Given the description of an element on the screen output the (x, y) to click on. 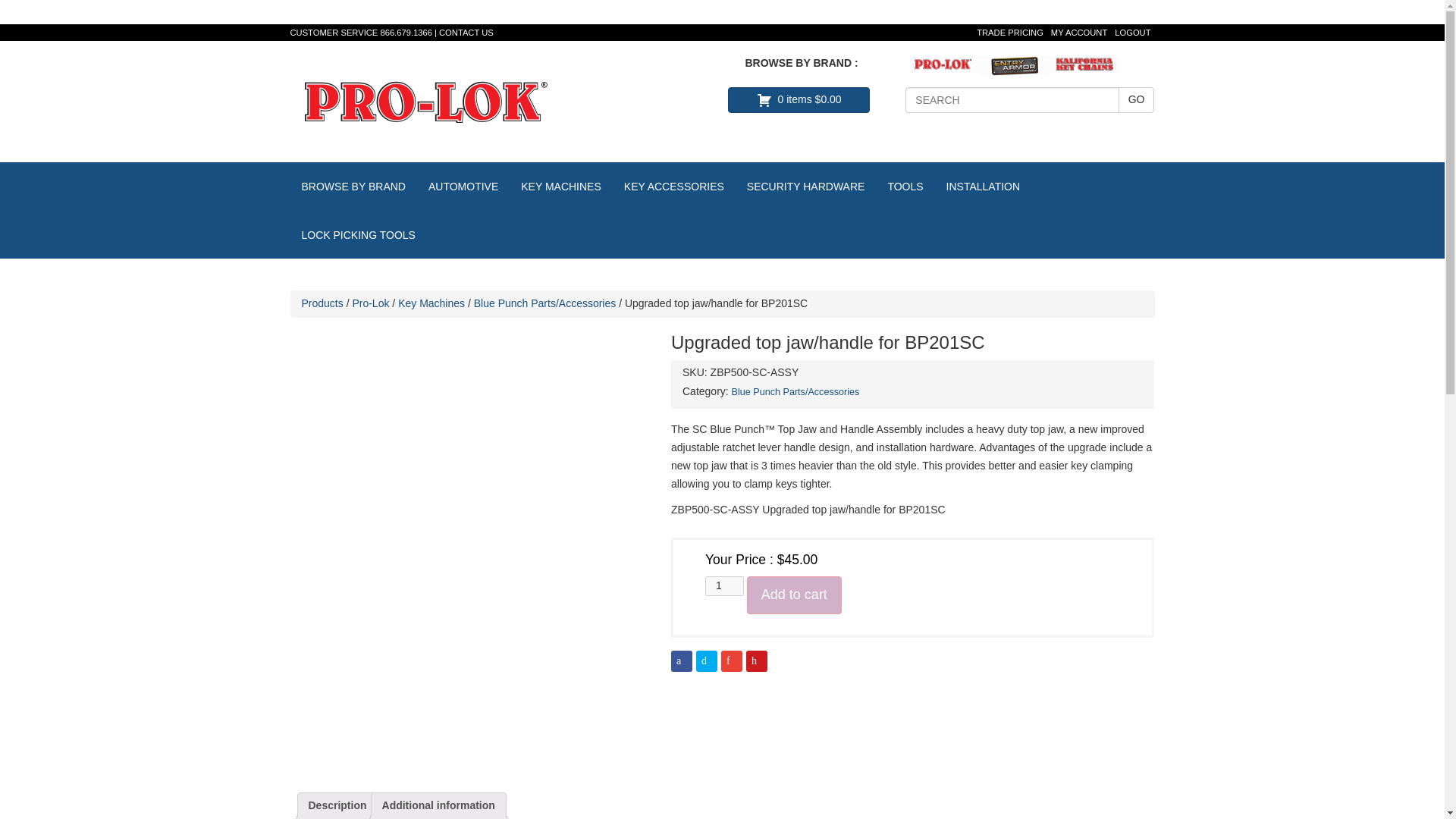
TRADE PRICING (1009, 32)
MY ACCOUNT (1078, 32)
Qty (724, 586)
GO (1136, 99)
View your shopping cart (798, 99)
CONTACT US (466, 31)
GO (1136, 99)
1 (724, 586)
LOGOUT (1132, 32)
PRO-LOK (425, 101)
